Given the description of an element on the screen output the (x, y) to click on. 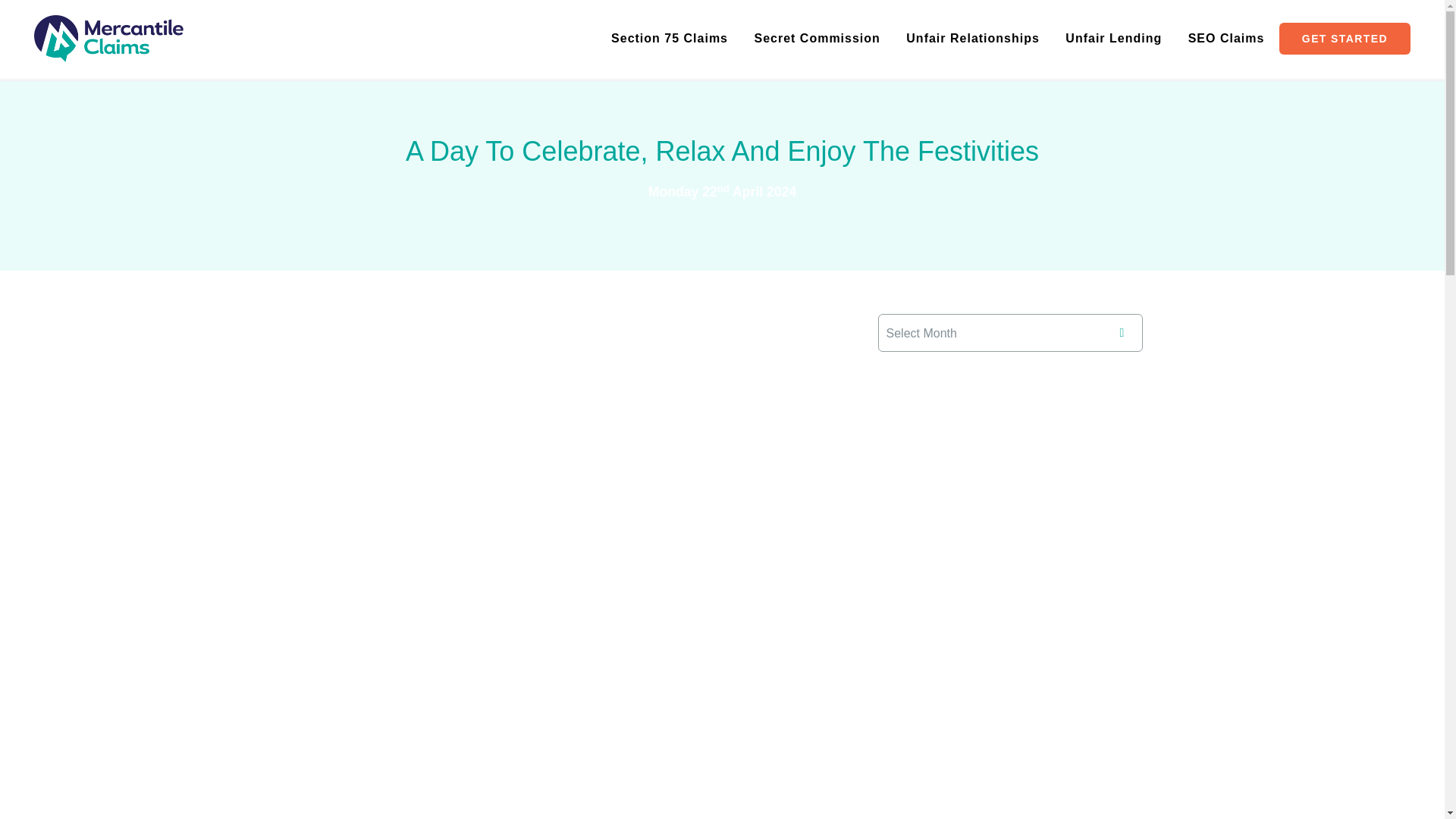
Secret Commission (816, 39)
Unfair Relationships (972, 38)
SEO Claims (1226, 38)
Unfair Relationships (972, 38)
SEO Claims (1226, 39)
Unfair Lending (1113, 38)
Secret Commission (816, 38)
SEO Claims (1226, 38)
Section 75 Claims (669, 38)
Unfair Relationships (972, 39)
